Given the description of an element on the screen output the (x, y) to click on. 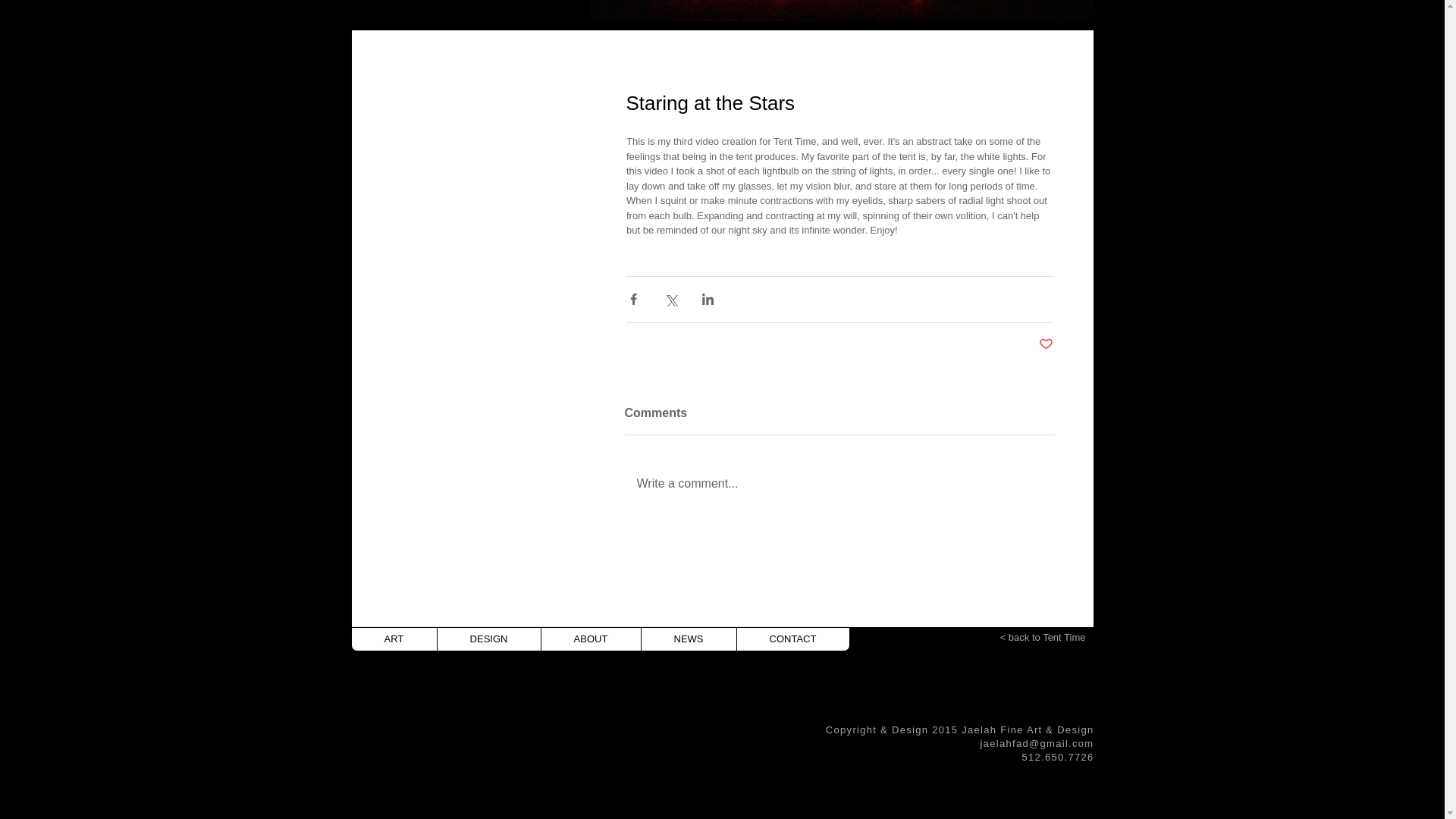
NEWS (687, 639)
ABOUT (590, 639)
CONTACT (791, 639)
DESIGN (488, 639)
Post not marked as liked (1045, 344)
Write a comment... (839, 483)
ART (394, 639)
